Given the description of an element on the screen output the (x, y) to click on. 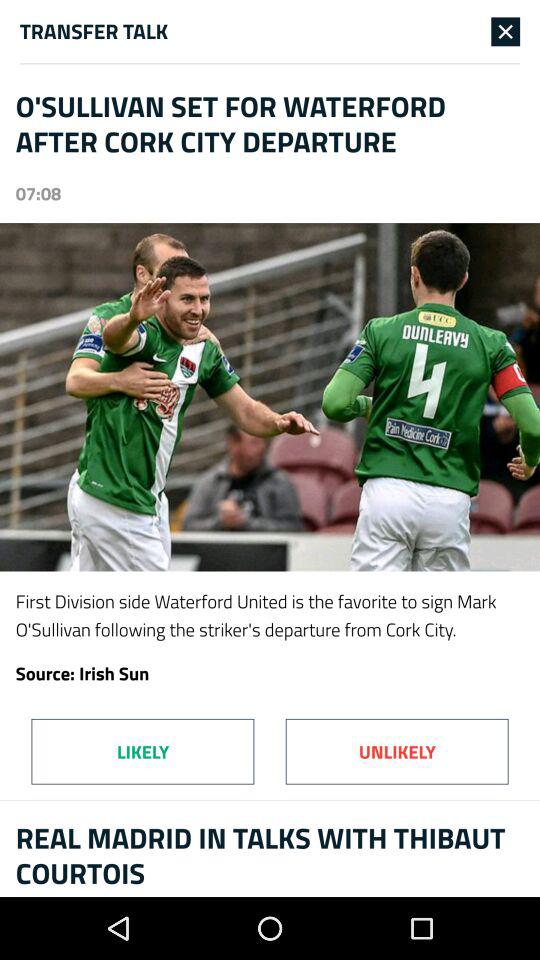
click the item below source: irish sun (396, 751)
